Given the description of an element on the screen output the (x, y) to click on. 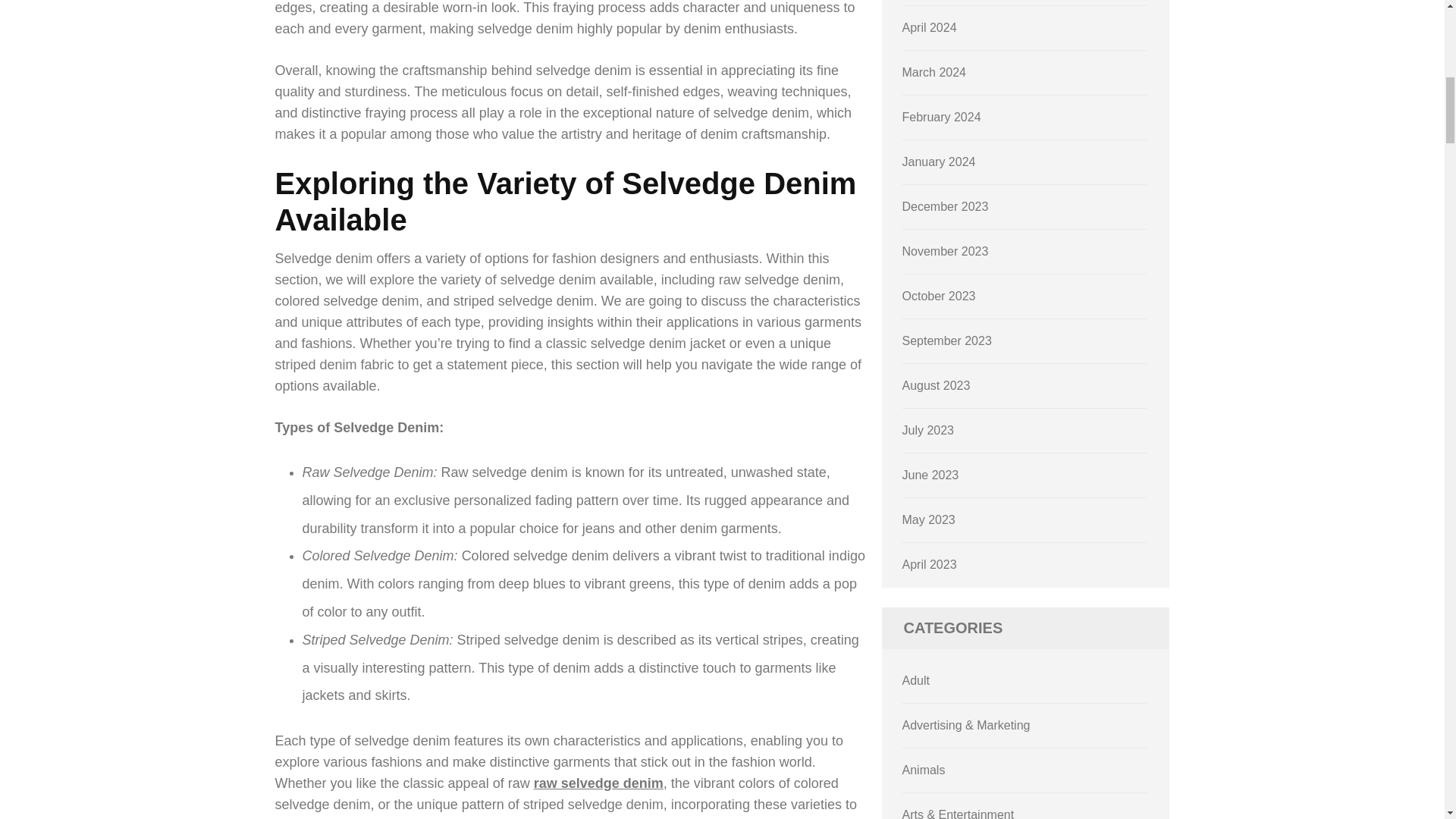
May 2023 (928, 519)
September 2023 (946, 340)
November 2023 (945, 250)
June 2023 (930, 474)
raw selvedge denim (598, 783)
August 2023 (936, 385)
Adult (916, 680)
April 2023 (929, 563)
April 2024 (929, 27)
February 2024 (941, 116)
December 2023 (945, 205)
July 2023 (928, 430)
March 2024 (934, 72)
January 2024 (938, 161)
October 2023 (938, 295)
